Given the description of an element on the screen output the (x, y) to click on. 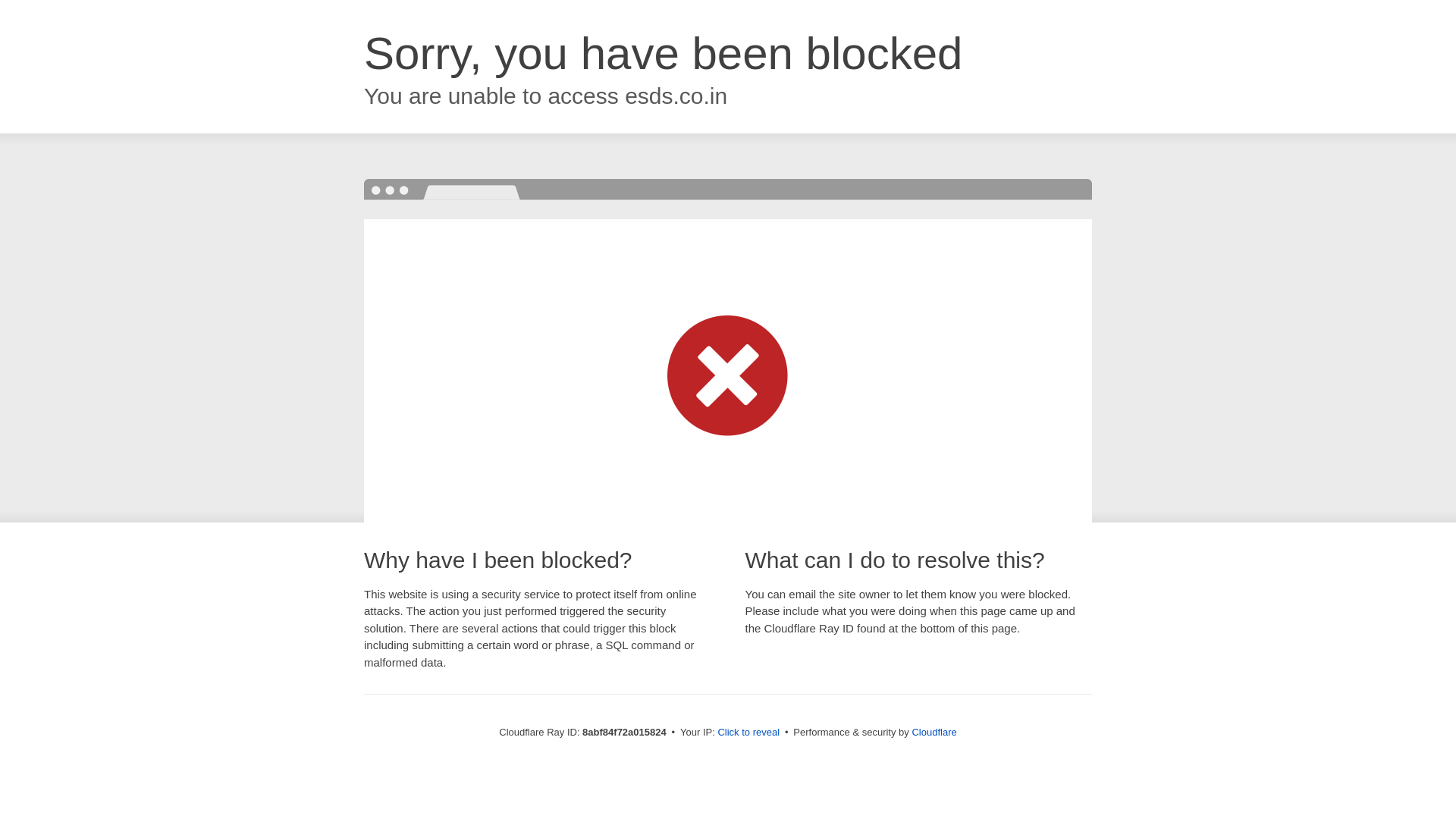
Click to reveal (747, 732)
Cloudflare (933, 731)
